Given the description of an element on the screen output the (x, y) to click on. 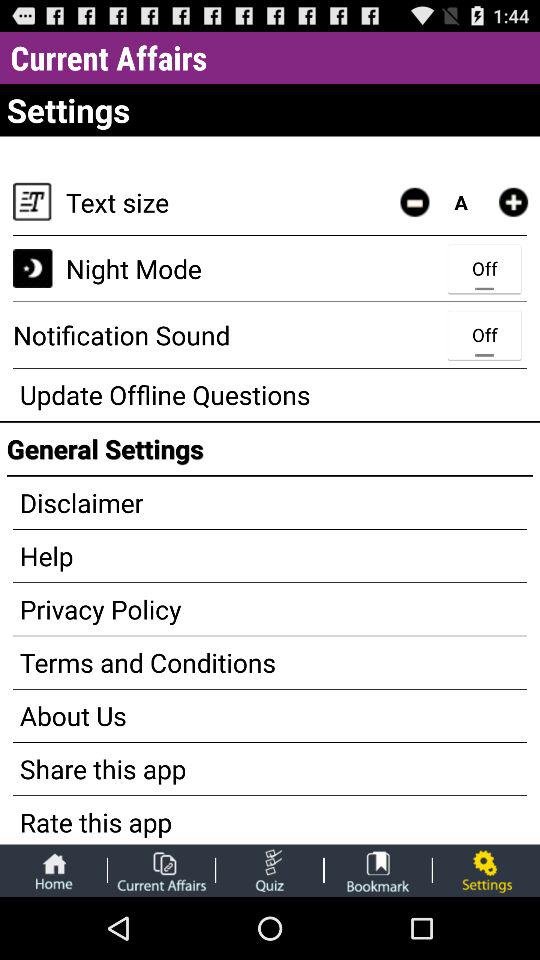
turn off the app to the right of the a app (513, 202)
